Given the description of an element on the screen output the (x, y) to click on. 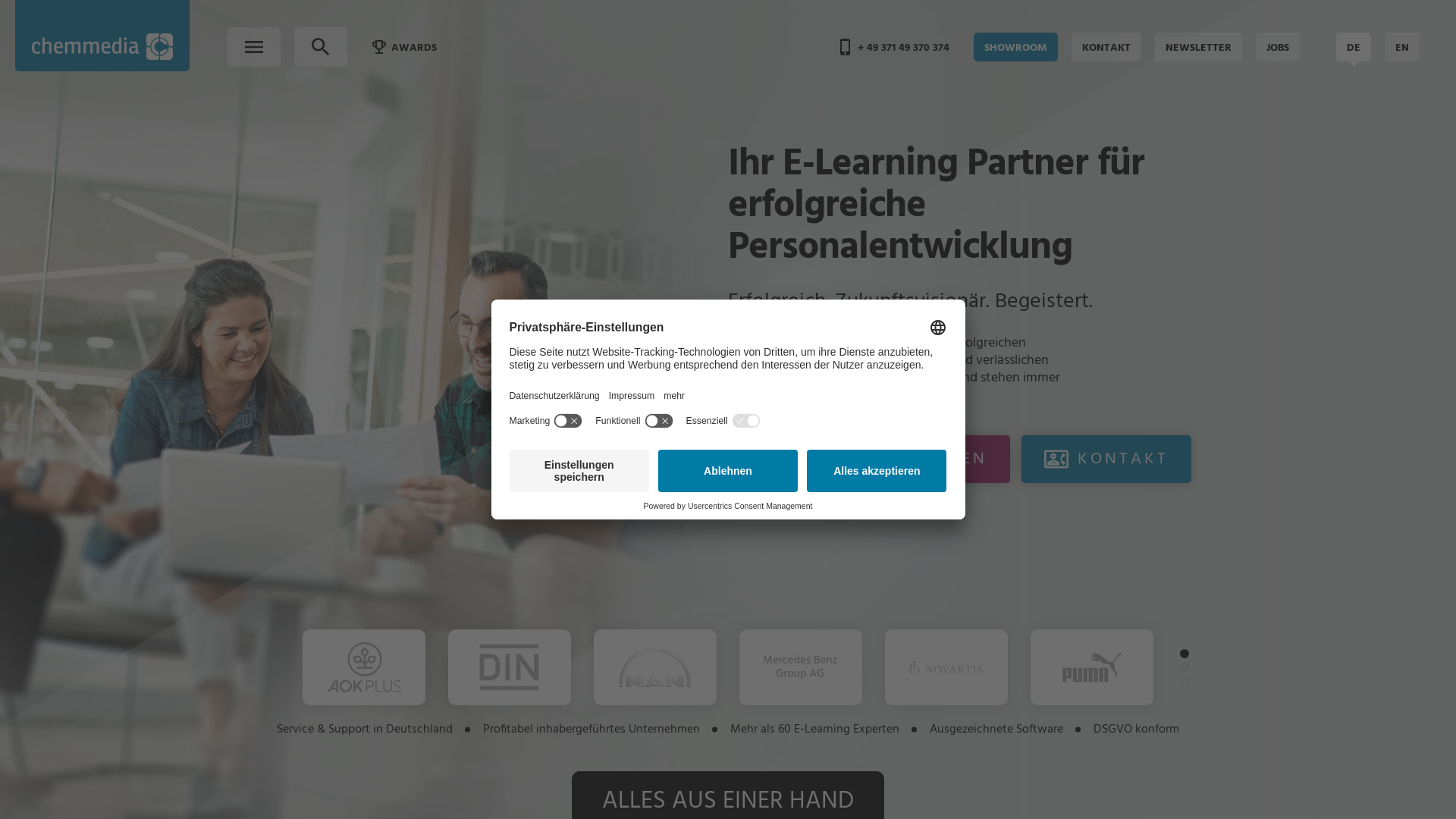
Logo Mercedes-Benz Group AG Element type: hover (800, 666)
SHOWROOM Element type: text (1015, 46)
UNSERE LEISTUNGEN Element type: text (869, 459)
AWARDS Element type: text (403, 46)
KONTAKT Element type: text (1106, 46)
Novartis Element type: hover (945, 667)
NEWSLETTER Element type: text (1198, 46)
DE Element type: text (1353, 46)
+ 49 371 49 370 374 Element type: text (893, 46)
EN Element type: text (1401, 46)
AOK Plus Element type: hover (363, 667)
chemmedia AG Element type: hover (102, 35)
KONTAKT Element type: text (1106, 459)
JOBS Element type: text (1277, 46)
